Given the description of an element on the screen output the (x, y) to click on. 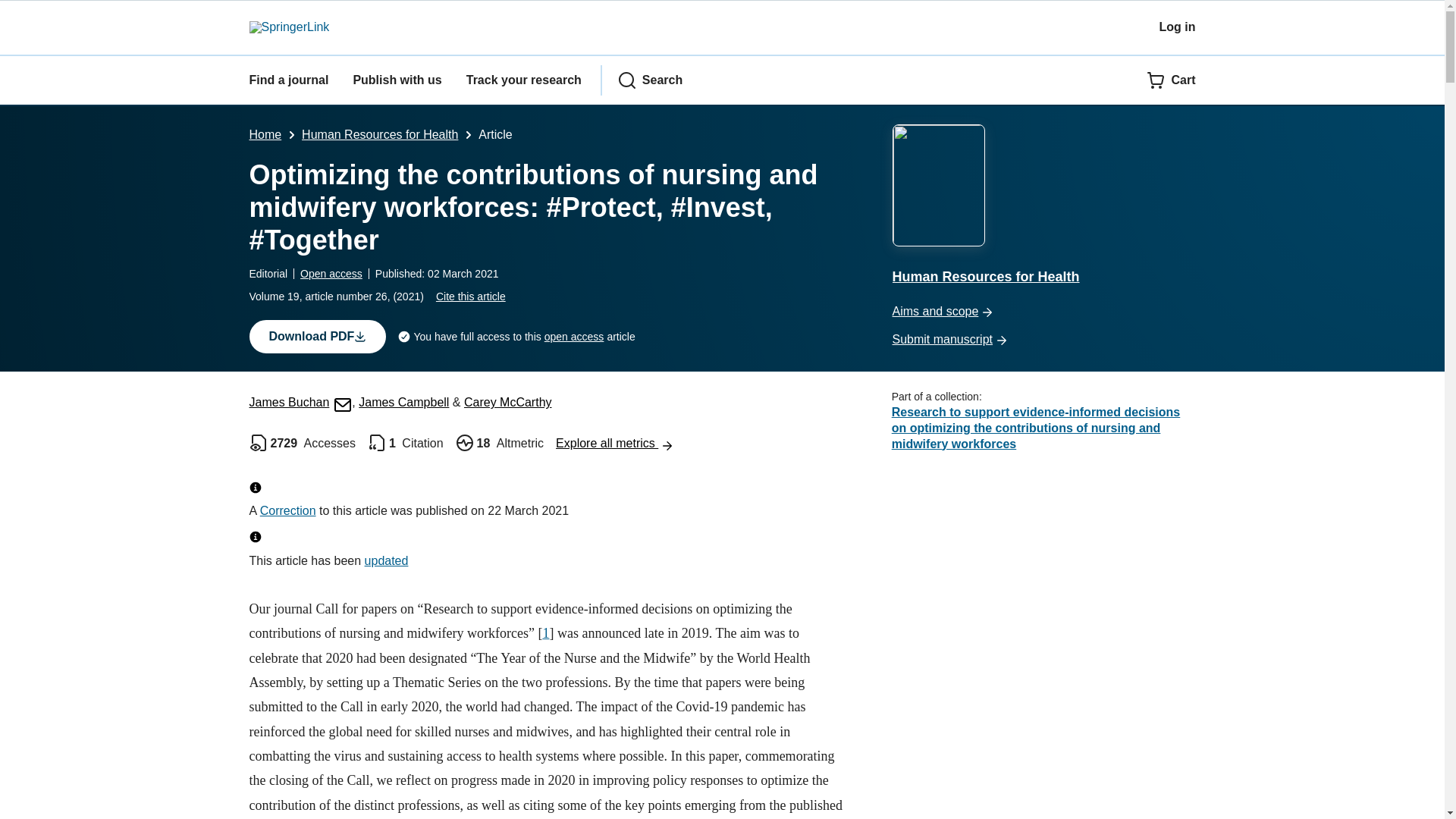
updated (387, 560)
Explore all metrics (614, 442)
Cite this article (470, 296)
Human Resources for Health (1043, 206)
Log in (1177, 26)
Track your research (524, 79)
open access (574, 336)
Submit manuscript (1043, 340)
Aims and scope (1043, 311)
James Campbell (403, 401)
Publish with us (396, 79)
Search (649, 79)
Human Resources for Health (379, 133)
Home (264, 133)
Cart (1170, 79)
